Given the description of an element on the screen output the (x, y) to click on. 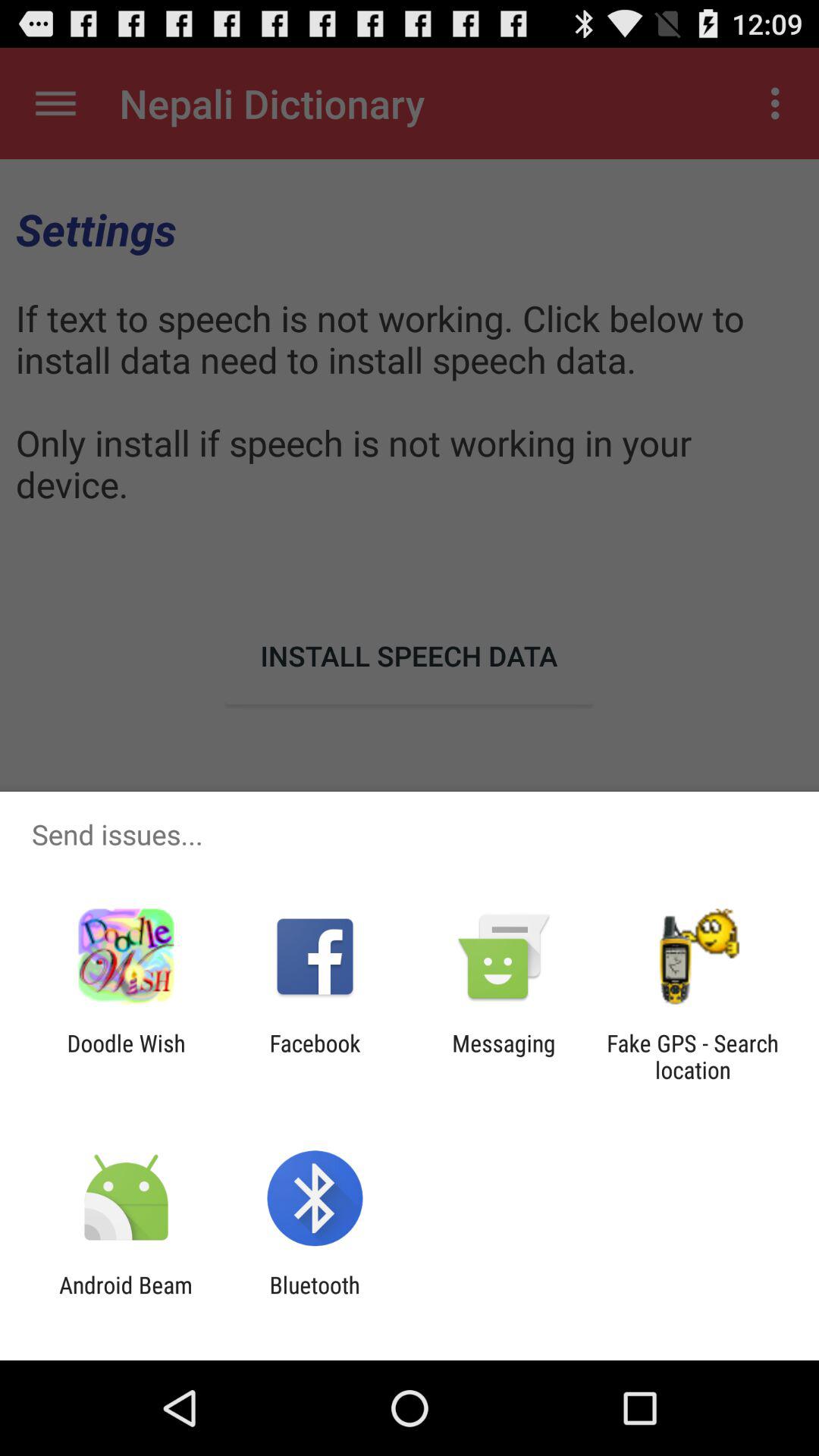
select the app to the left of the facebook item (126, 1056)
